Given the description of an element on the screen output the (x, y) to click on. 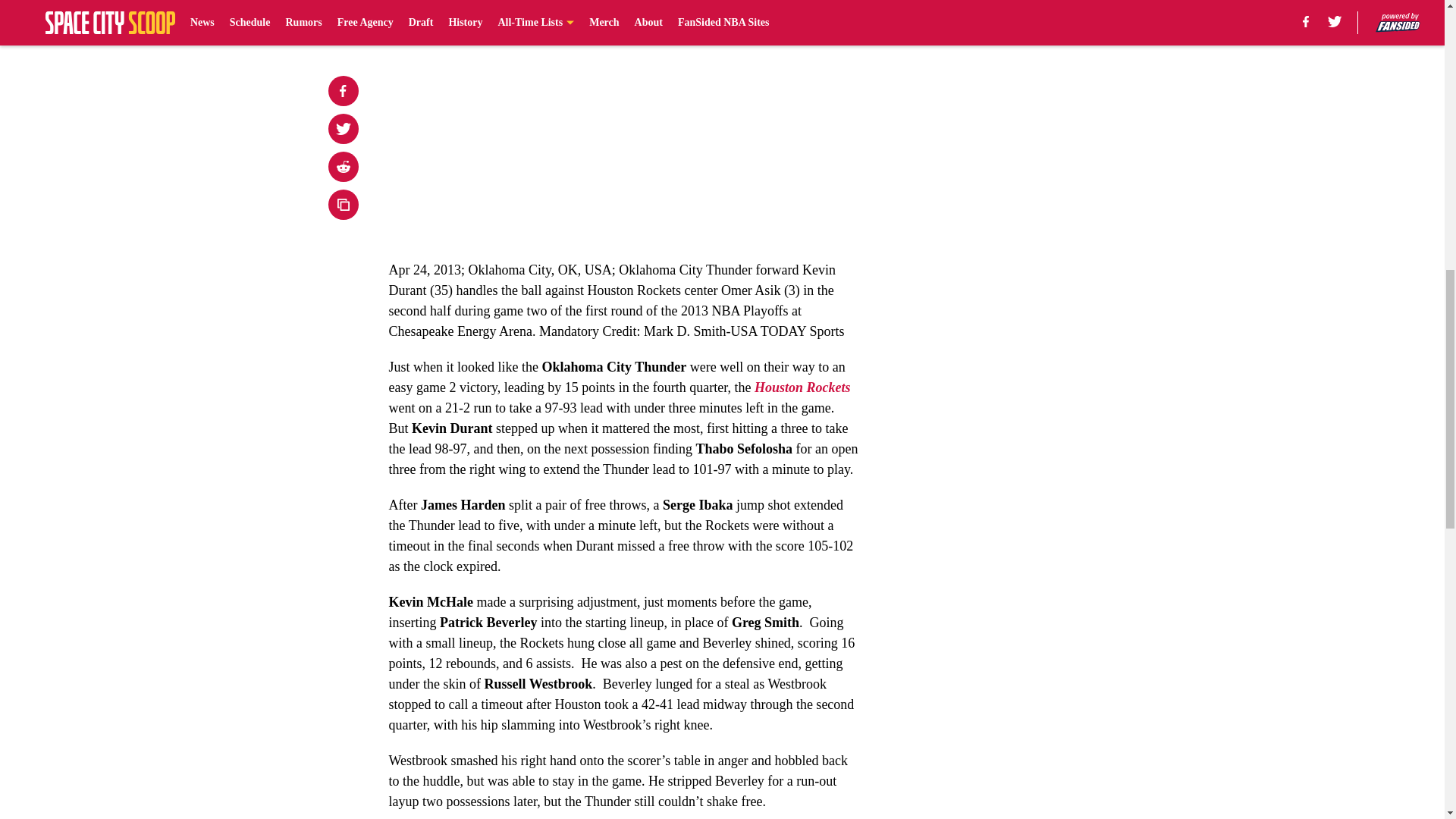
Houston Rockets (802, 387)
